Given the description of an element on the screen output the (x, y) to click on. 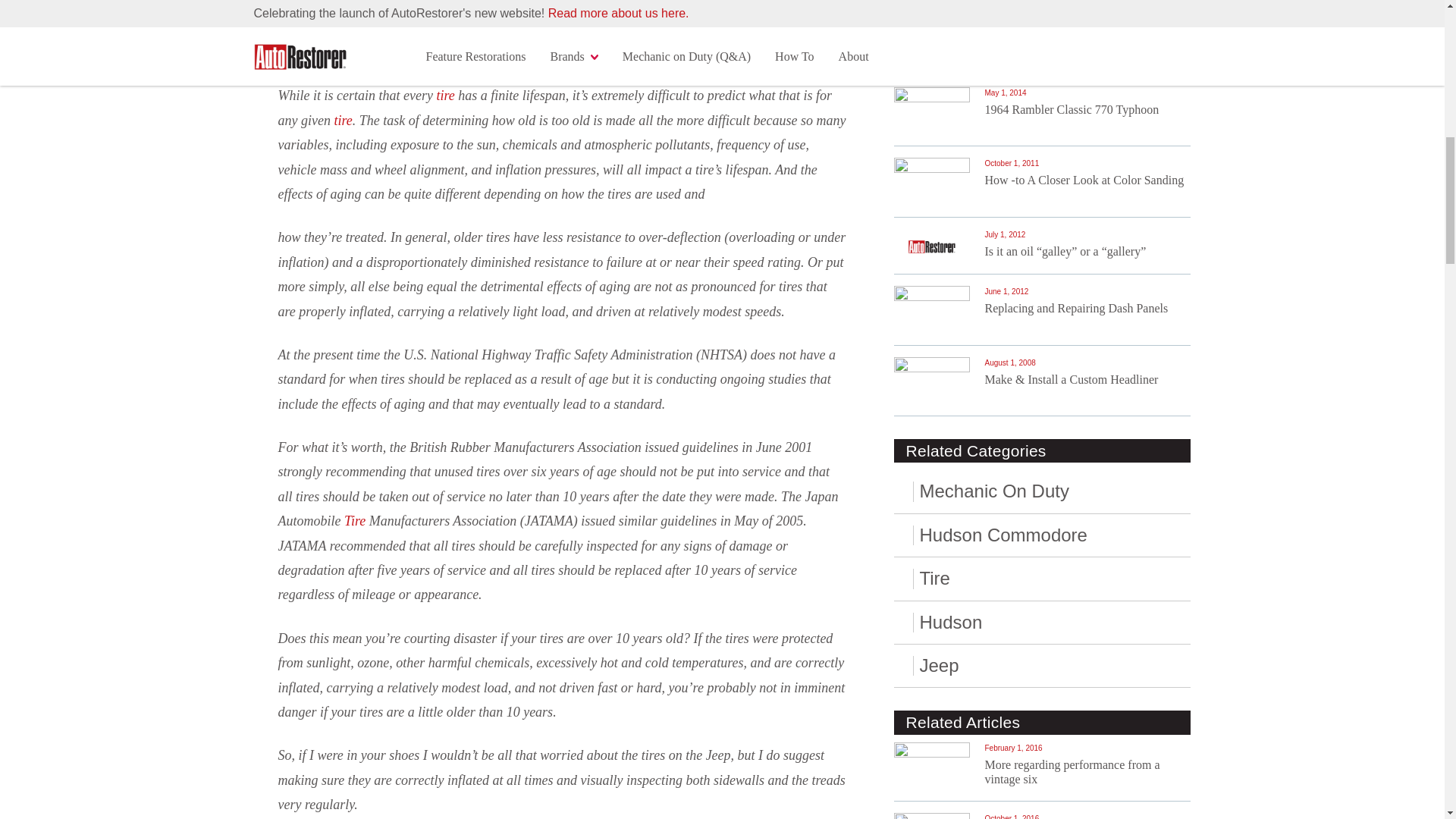
tire (444, 95)
Tire (354, 520)
tire (342, 120)
